Given the description of an element on the screen output the (x, y) to click on. 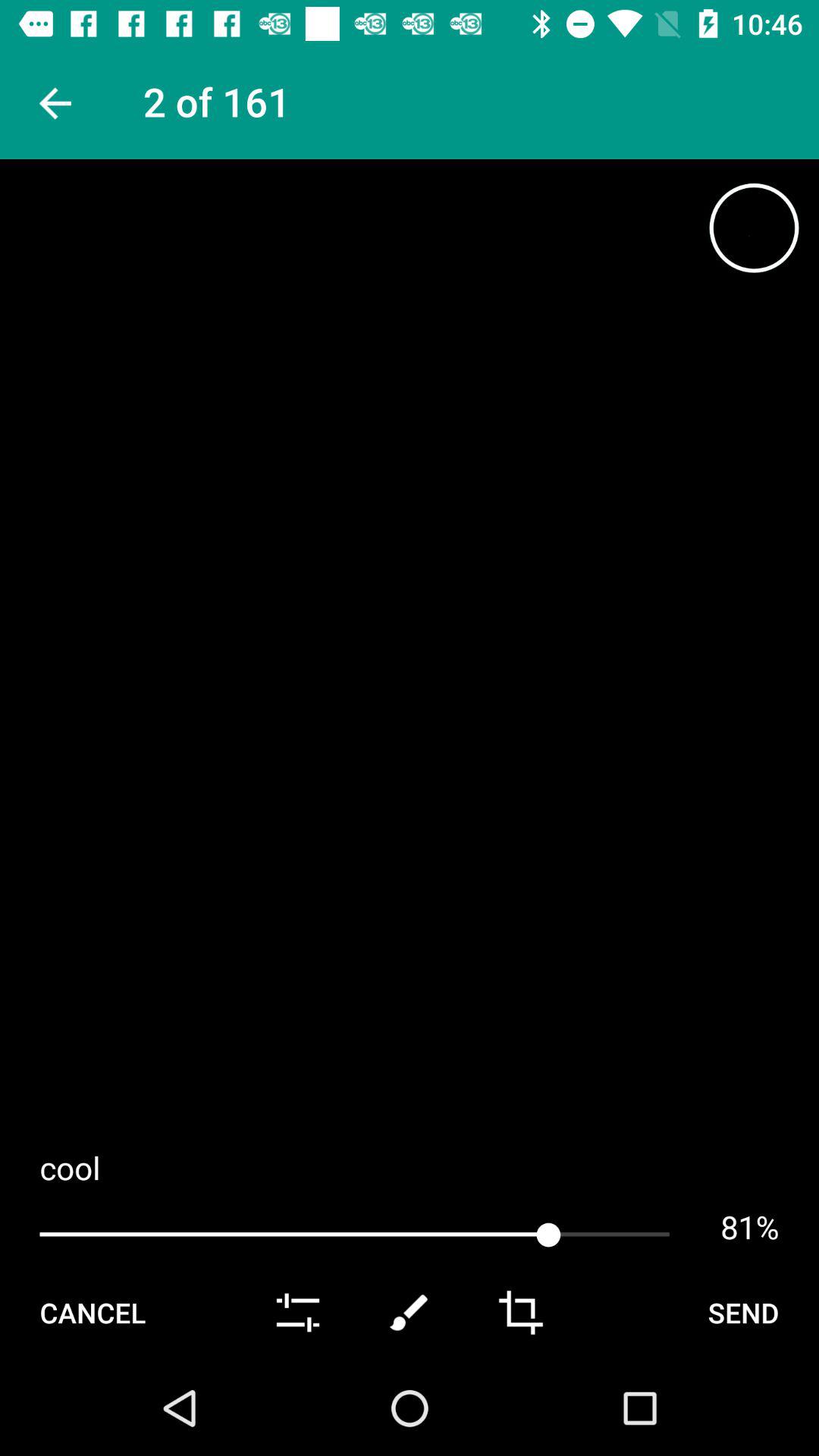
crop the photo (520, 1312)
